Given the description of an element on the screen output the (x, y) to click on. 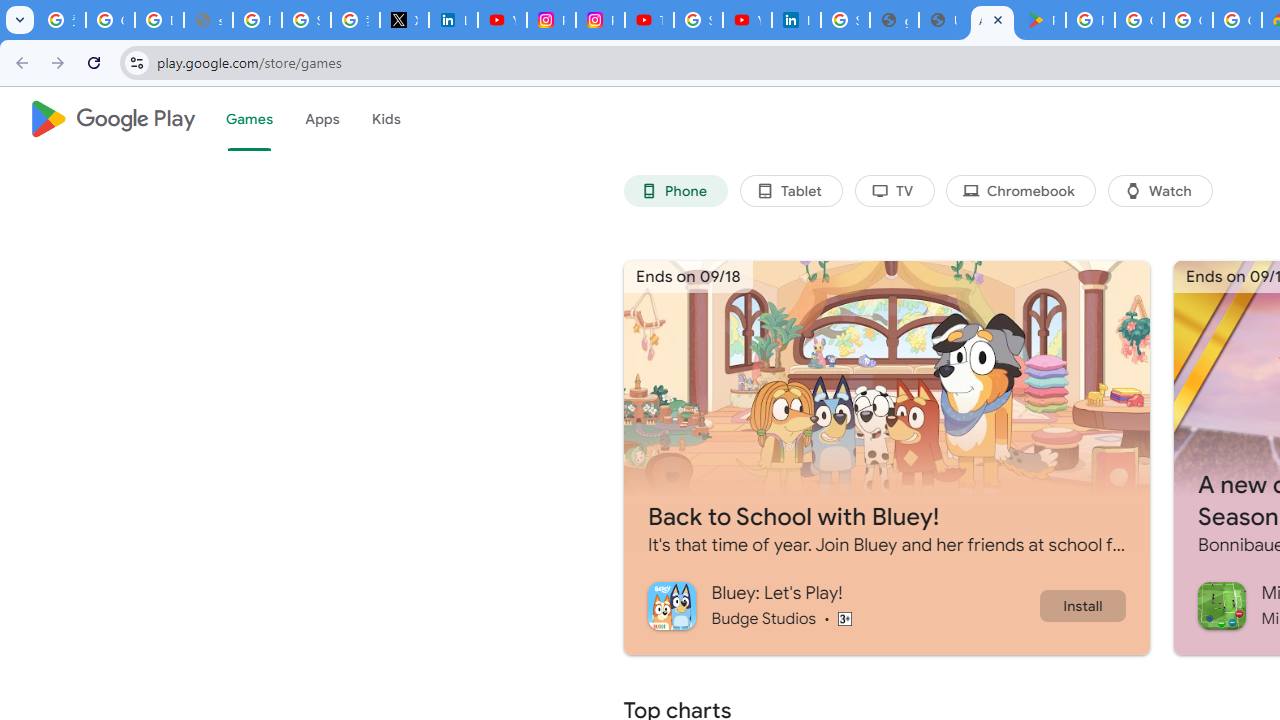
PAW Patrol Rescue World - Apps on Google Play (1041, 20)
